Given the description of an element on the screen output the (x, y) to click on. 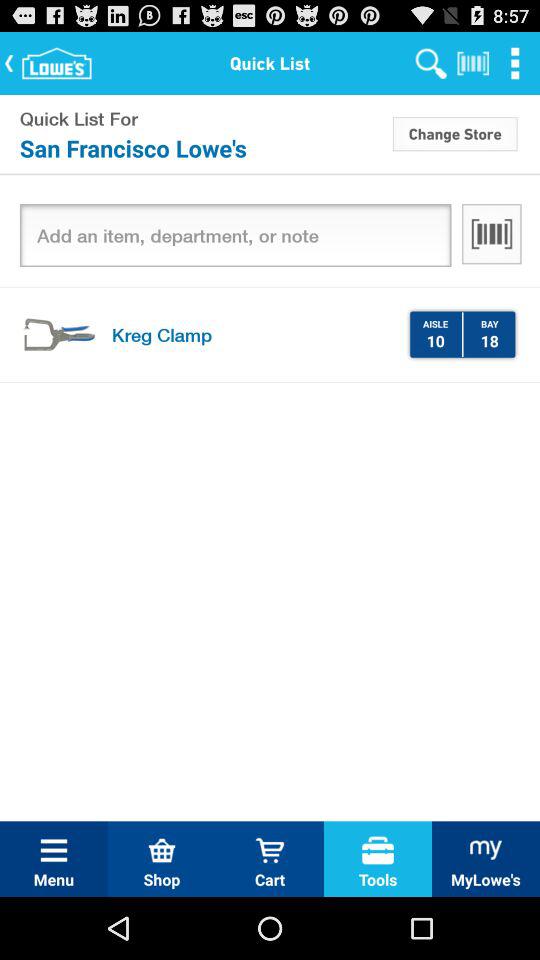
choose item to the right of kreg clamp item (435, 340)
